Given the description of an element on the screen output the (x, y) to click on. 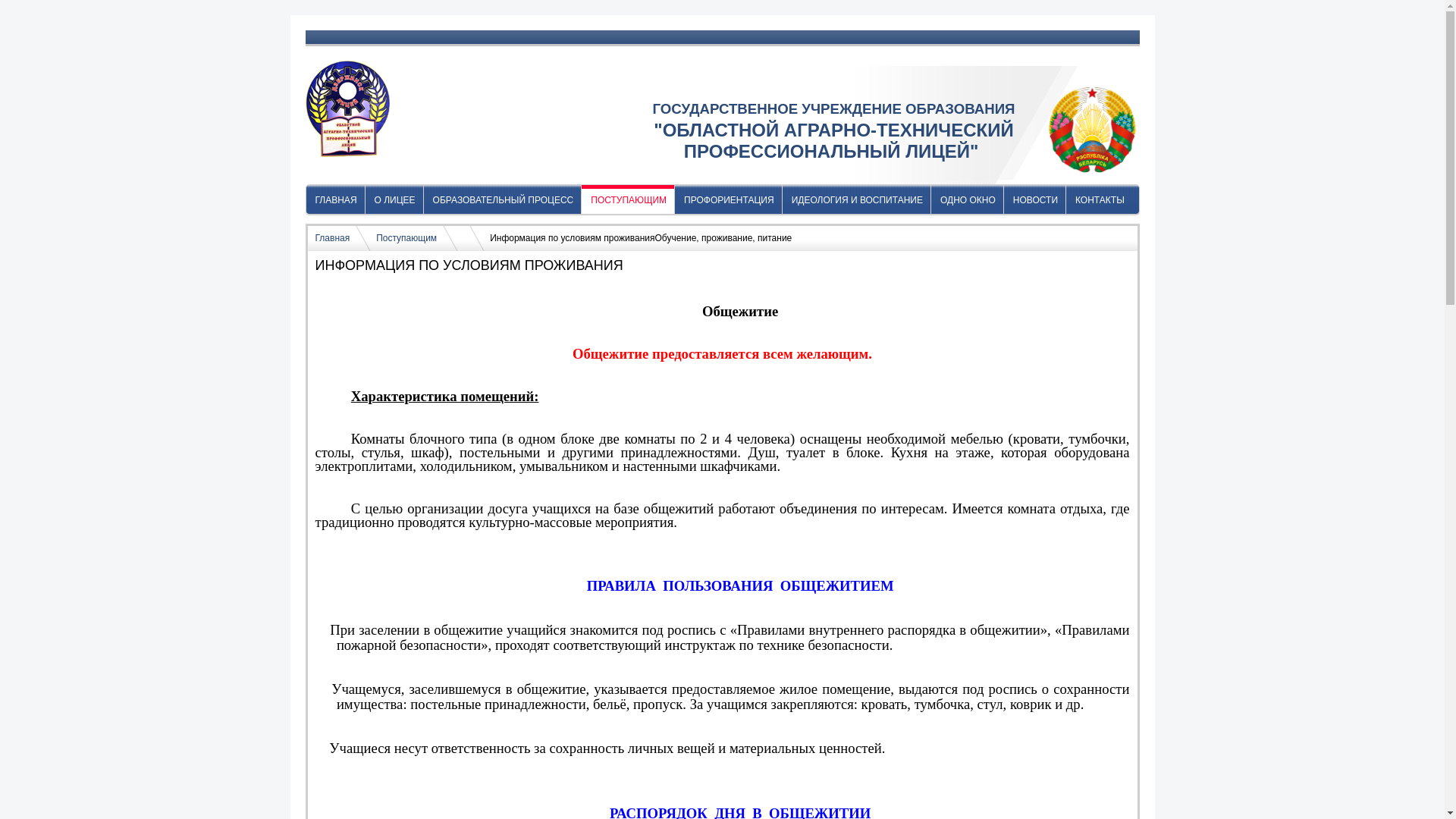
oatpl.by Element type: hover (346, 108)
